Given the description of an element on the screen output the (x, y) to click on. 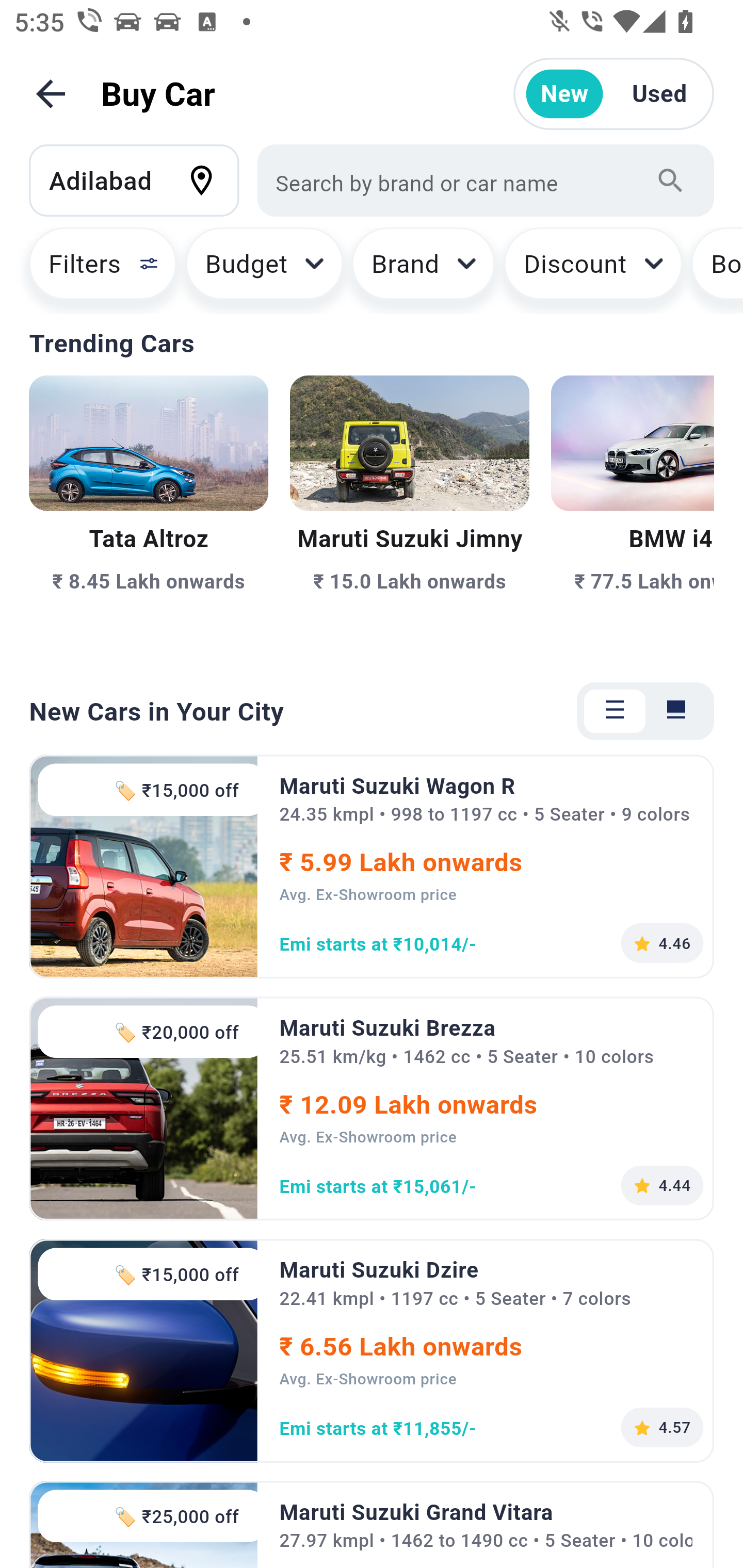
Back (50, 93)
New (564, 93)
Used (659, 93)
Adilabad (142, 180)
Filters (93, 270)
Budget (264, 270)
Brand (423, 270)
Discount (592, 270)
₹ 8.45 Lakh onwards Tata Altroz (148, 515)
₹ 15.0 Lakh onwards Maruti Suzuki Jimny (409, 515)
₹ 77.5 Lakh onwards BMW i4 (632, 515)
Tab 1 of 2 (614, 710)
Tab 2 of 2 (675, 710)
